Given the description of an element on the screen output the (x, y) to click on. 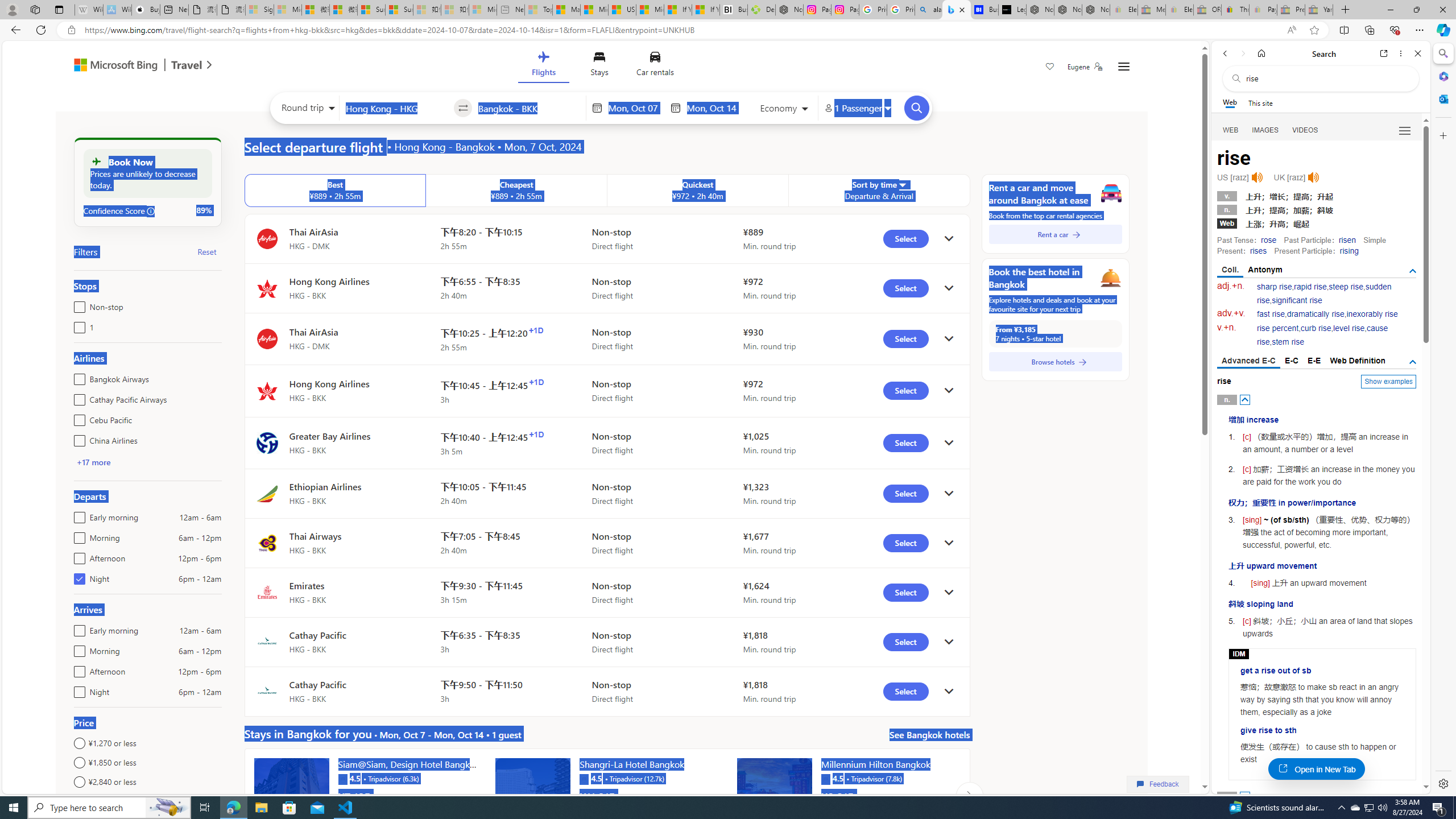
Flight logo (267, 691)
Class: msft-travel-logo (186, 64)
Reset (206, 251)
